Given the description of an element on the screen output the (x, y) to click on. 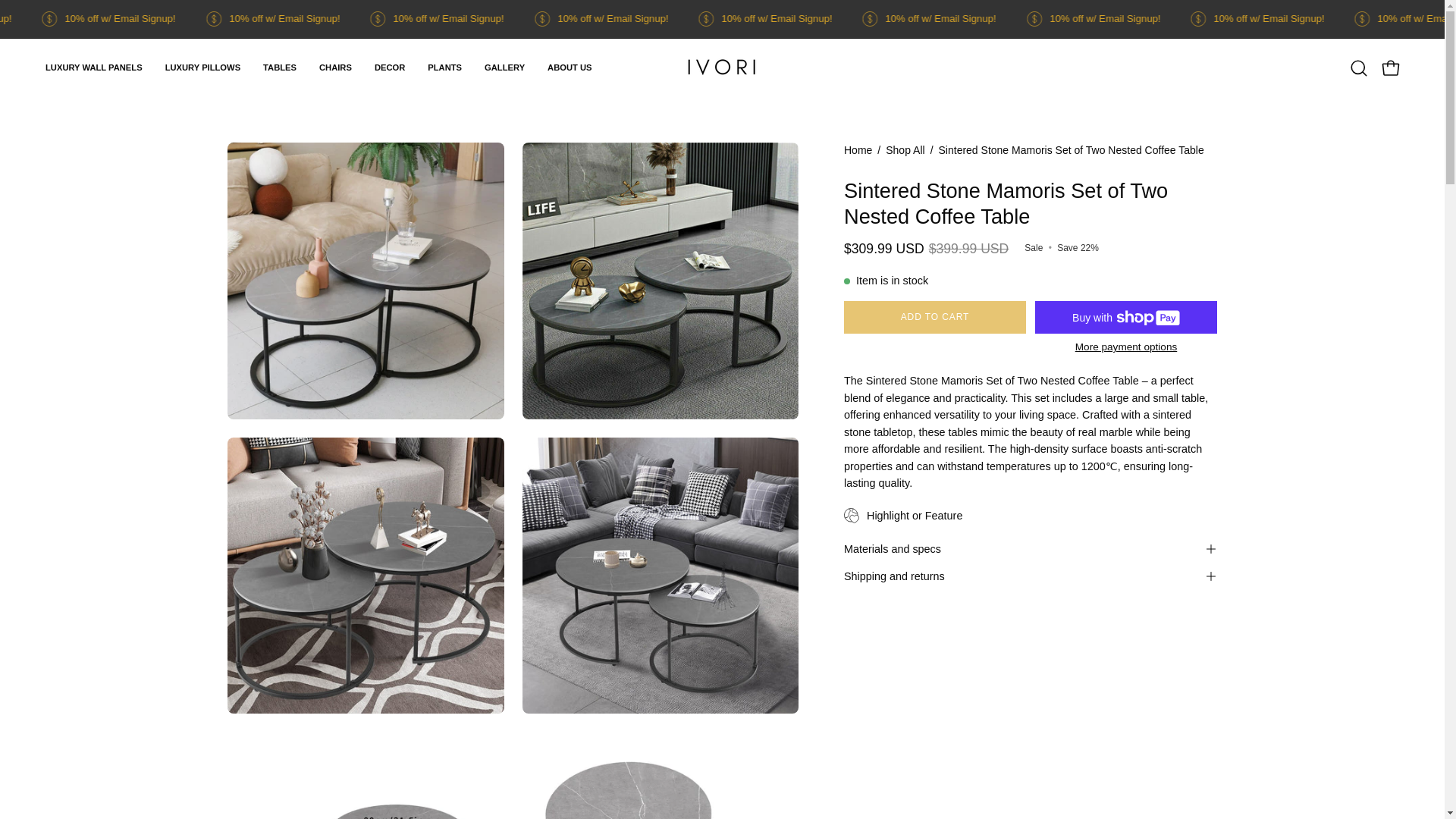
ABOUT US (568, 67)
DECOR (389, 67)
PLANTS (444, 67)
Open search bar (1358, 67)
TABLES (279, 67)
LUXURY PILLOWS (202, 67)
GALLERY (504, 67)
LUXURY WALL PANELS (93, 67)
Go back to Home page (858, 150)
CHAIRS (334, 67)
